Given the description of an element on the screen output the (x, y) to click on. 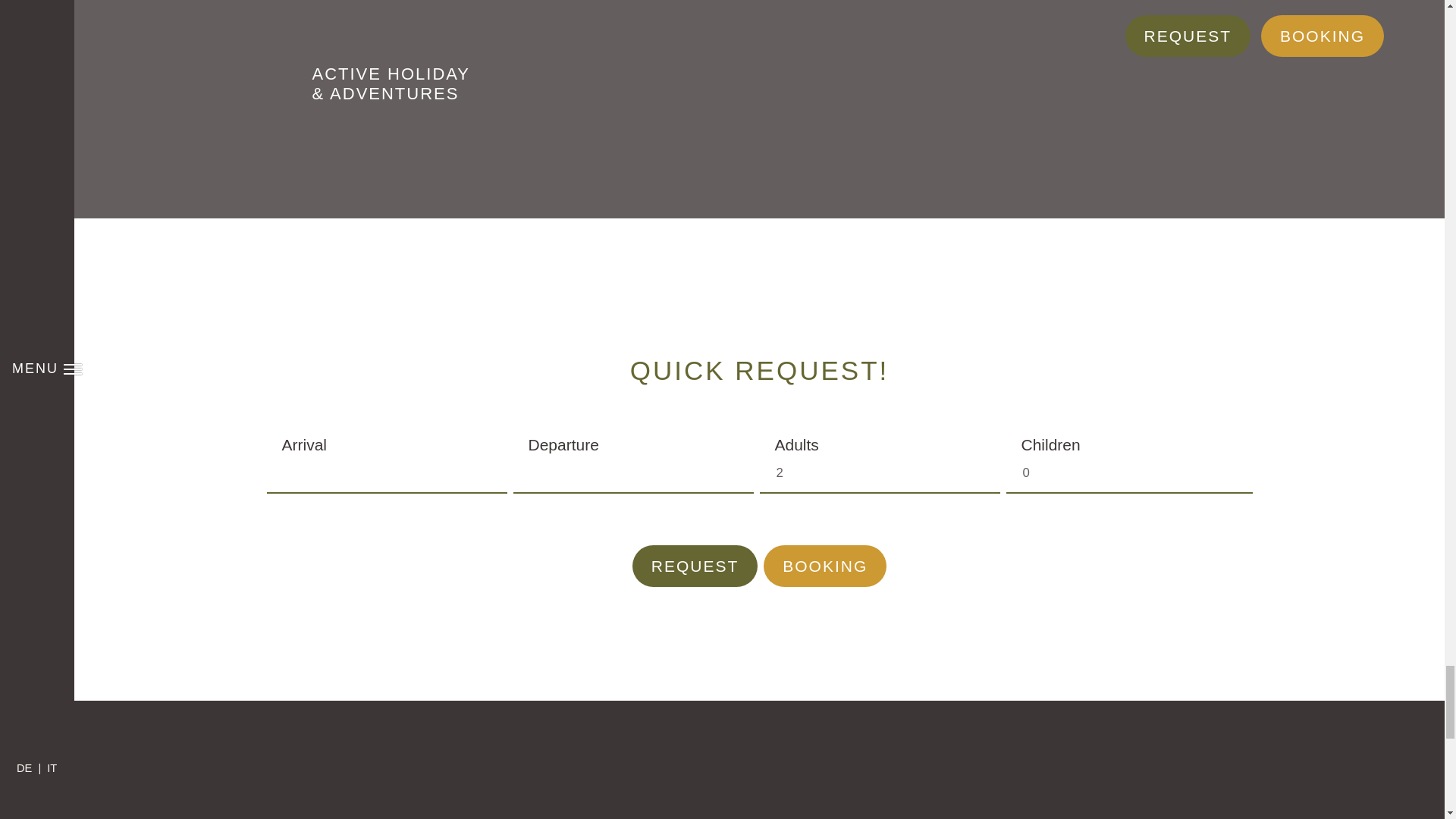
Request (694, 566)
Booking (824, 566)
2 (879, 473)
REQUEST (694, 566)
0 (1128, 473)
BOOKING (824, 566)
